Given the description of an element on the screen output the (x, y) to click on. 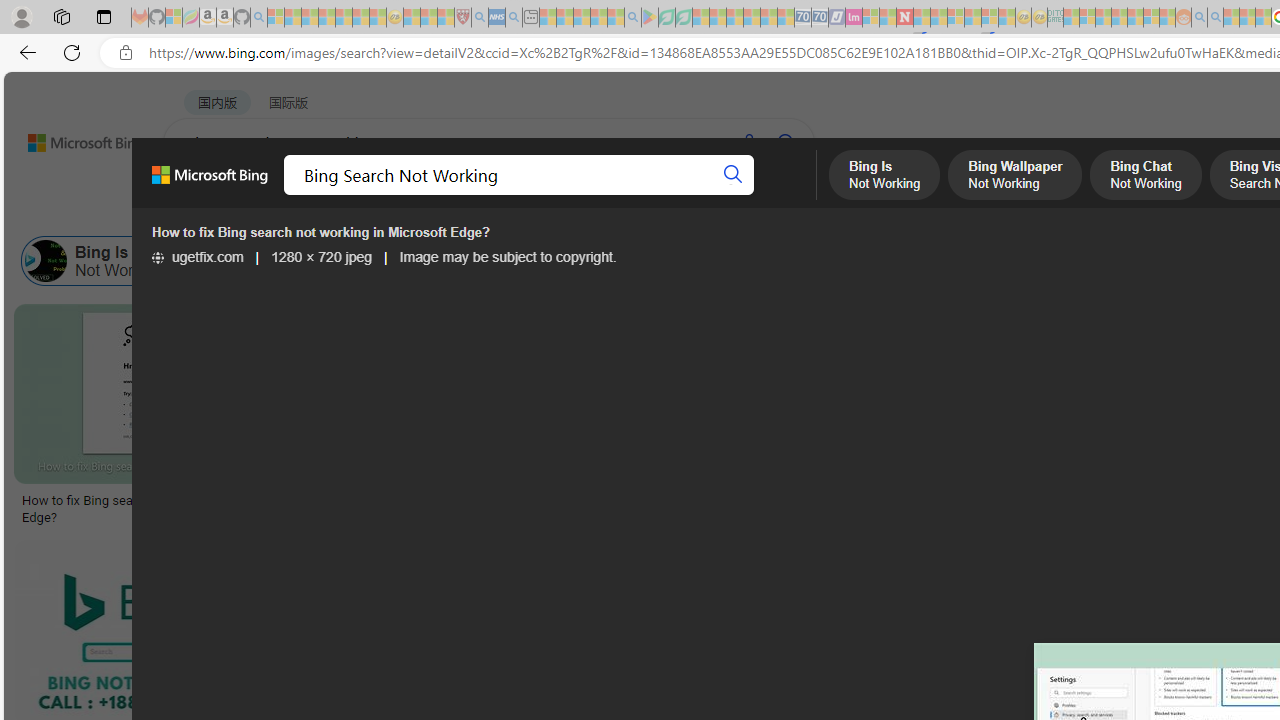
Bing Wallpaper Not Working (216, 260)
Trusted Community Engagement and Contributions | Guidelines (921, 17)
3:53 (299, 558)
Microsoft-Report a Concern to Bing - Sleeping (173, 17)
ACADEMIC (635, 195)
Remove Bing Search (868, 260)
Recipes - MSN - Sleeping (411, 17)
How to fix Bing search not working in Microsoft Edge?Save (174, 417)
ACADEMIC (635, 195)
Microsoft Bing, Back to Bing search (209, 183)
Jobs - lastminute.com Investor Portal - Sleeping (853, 17)
